Given the description of an element on the screen output the (x, y) to click on. 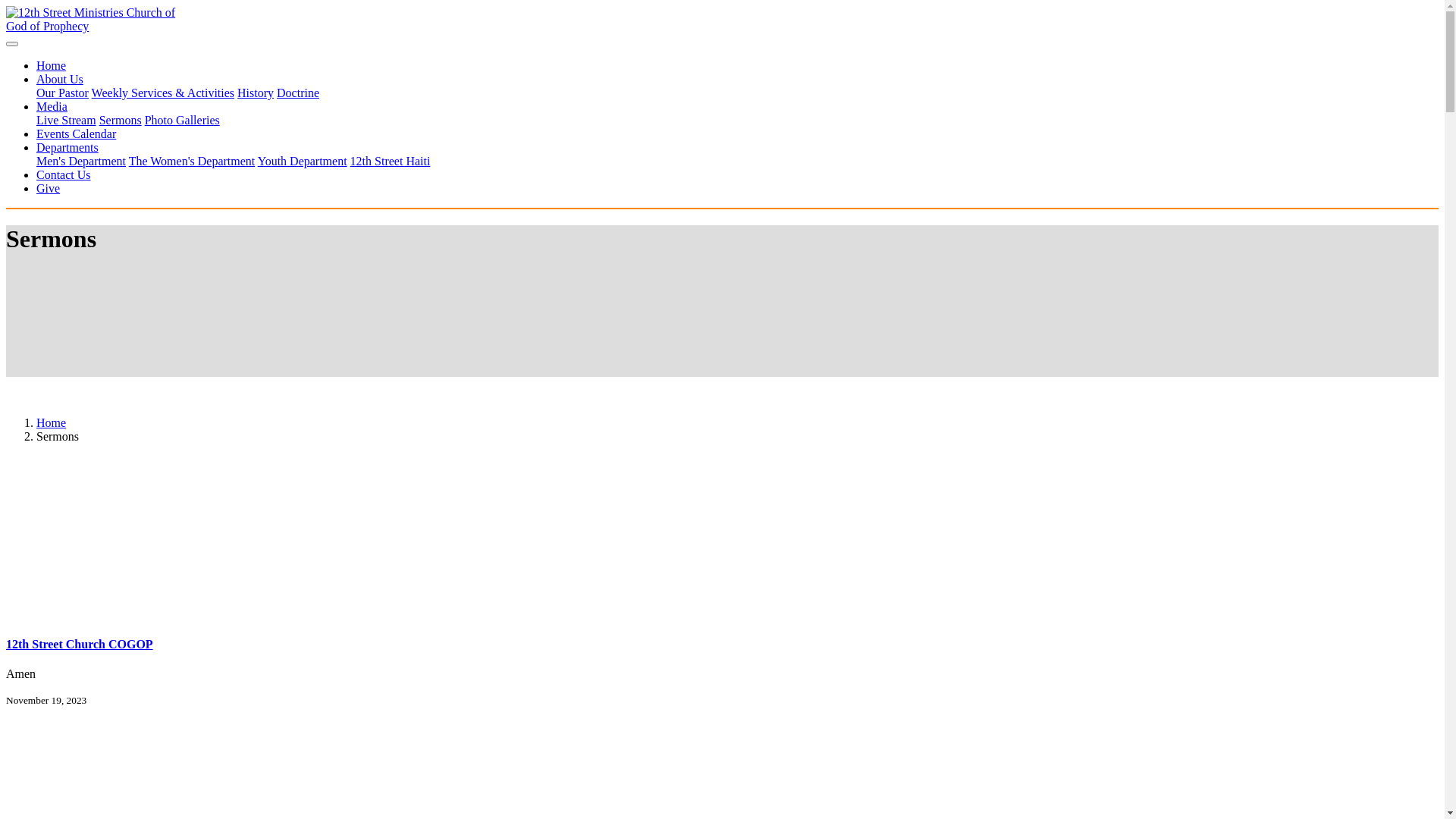
Home Element type: text (50, 422)
12th Street Haiti Element type: text (390, 160)
Give Element type: text (47, 188)
Home Element type: text (50, 65)
Contact Us Element type: text (63, 174)
12th Street Church COGOP Element type: hover (722, 545)
The Women's Department Element type: text (191, 160)
History Element type: text (255, 92)
Events Calendar Element type: text (76, 133)
Men's Department Element type: text (80, 160)
12th Street Church COGOP Element type: text (79, 643)
Departments Element type: text (67, 147)
Doctrine Element type: text (297, 92)
Sermons Element type: text (120, 119)
Weekly Services & Activities Element type: text (162, 92)
Live Stream Element type: text (66, 119)
Photo Galleries Element type: text (181, 119)
Youth Department Element type: text (302, 160)
Media Element type: text (51, 106)
Our Pastor Element type: text (62, 92)
About Us Element type: text (59, 78)
